Given the description of an element on the screen output the (x, y) to click on. 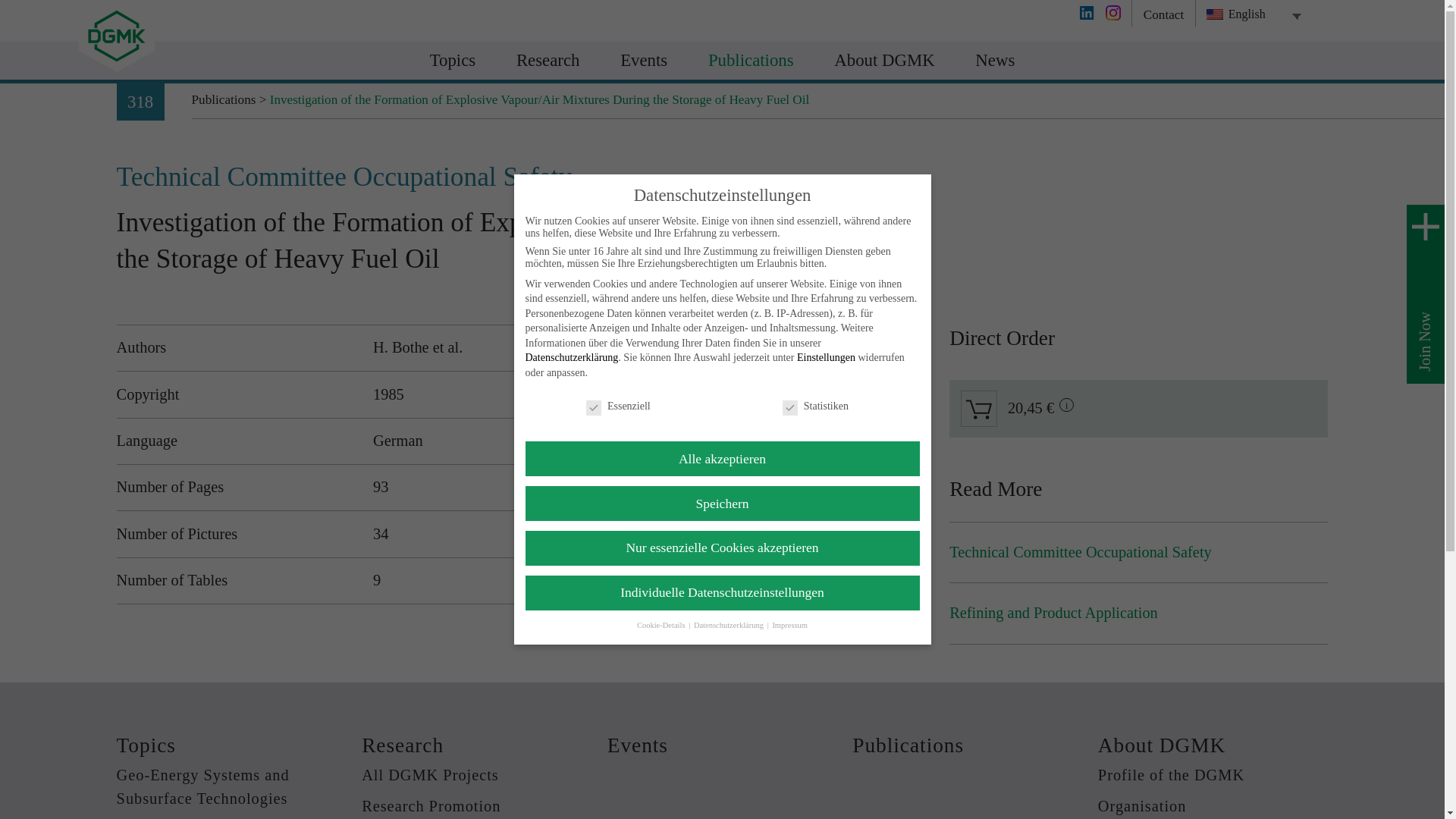
Go to publications. (224, 99)
English (1247, 14)
English (1215, 14)
